Given the description of an element on the screen output the (x, y) to click on. 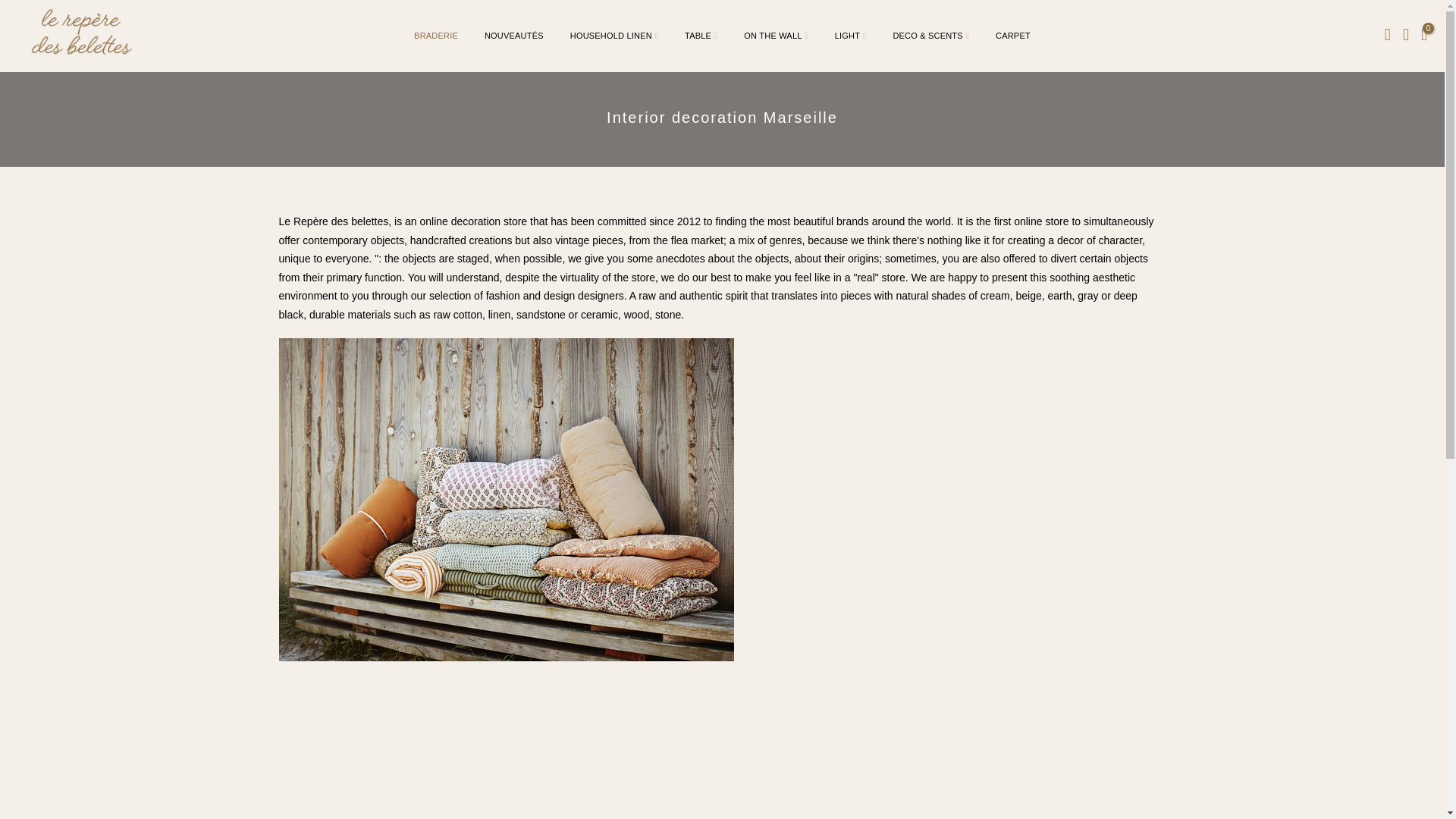
CARPET (1012, 35)
ON THE WALL (775, 35)
TABLE (700, 35)
BRADERIE (436, 35)
LIGHT (850, 35)
HOUSEHOLD LINEN (613, 35)
Linde de maison (506, 499)
